Given the description of an element on the screen output the (x, y) to click on. 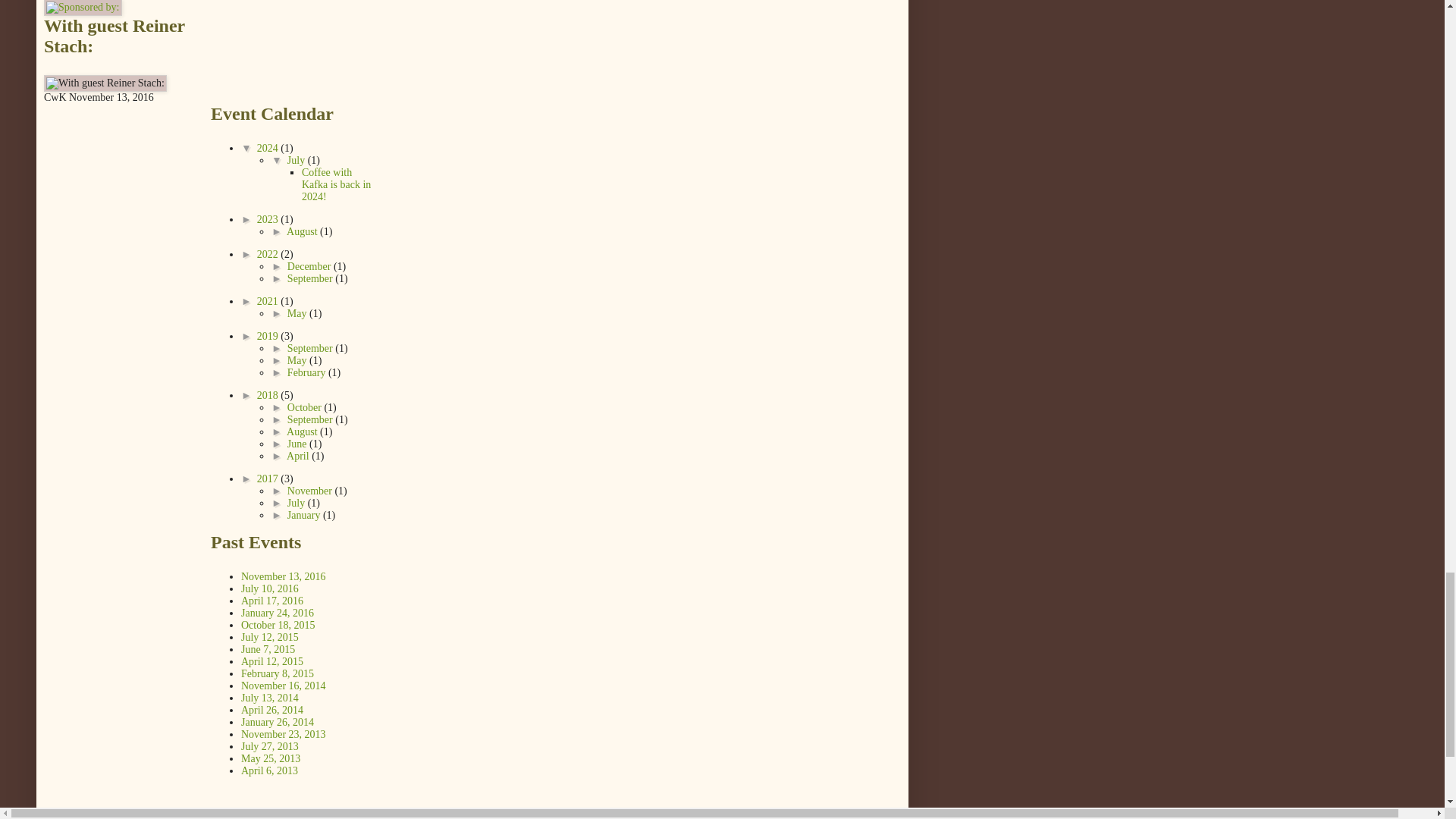
2021 (269, 301)
Coffee with Kafka is back in 2024! (336, 184)
December (309, 266)
July (296, 160)
August (303, 231)
2024 (269, 147)
2023 (269, 219)
2022 (269, 254)
September (310, 278)
